Given the description of an element on the screen output the (x, y) to click on. 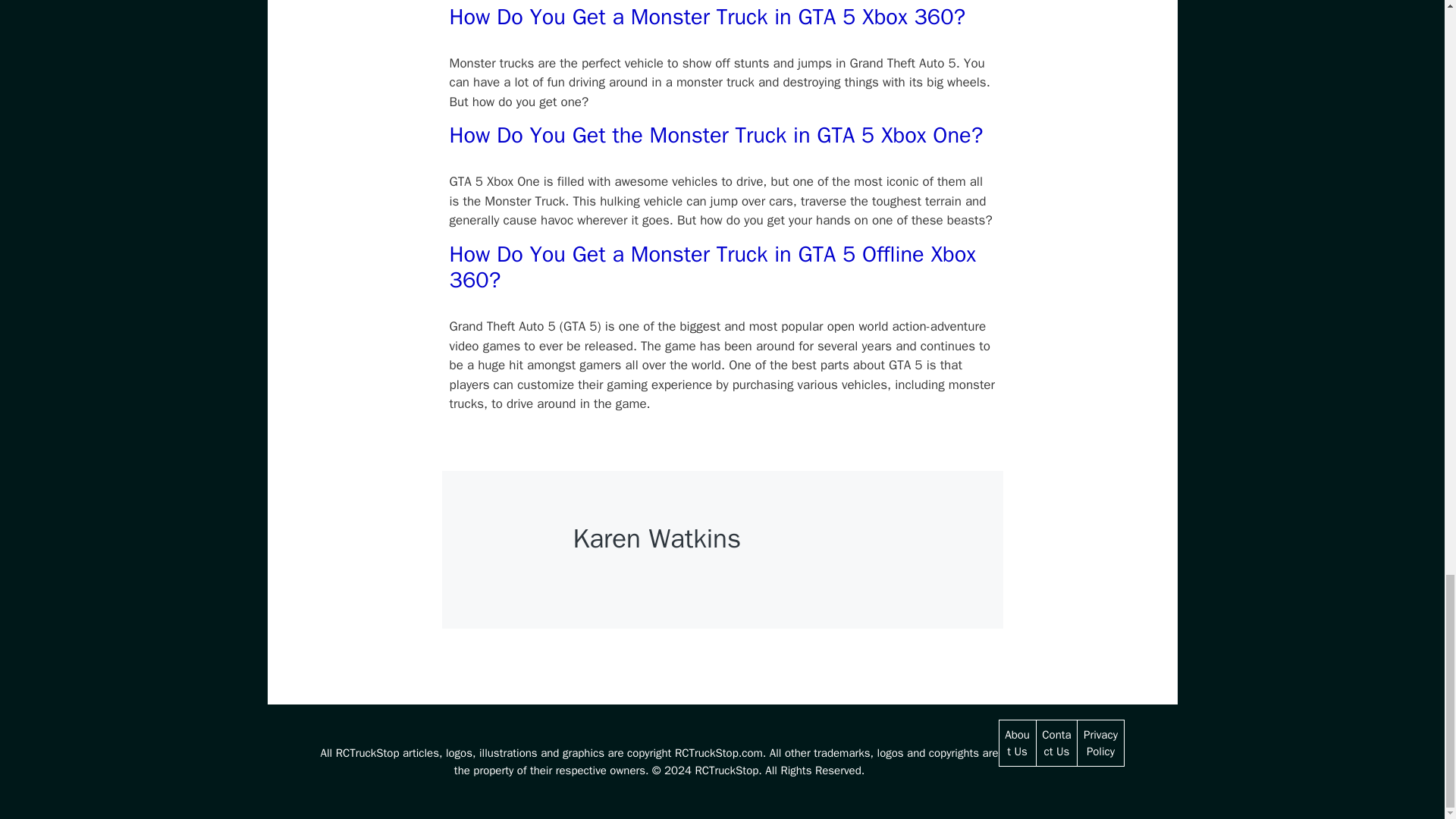
How Do You Get the Monster Truck in GTA 5 Xbox One? (715, 135)
Contact Us (1056, 743)
How Do You Get a Monster Truck in GTA 5 Offline Xbox 360? (711, 267)
Privacy Policy (1100, 743)
How Do You Get a Monster Truck in GTA 5 Xbox 360? (706, 17)
